Given the description of an element on the screen output the (x, y) to click on. 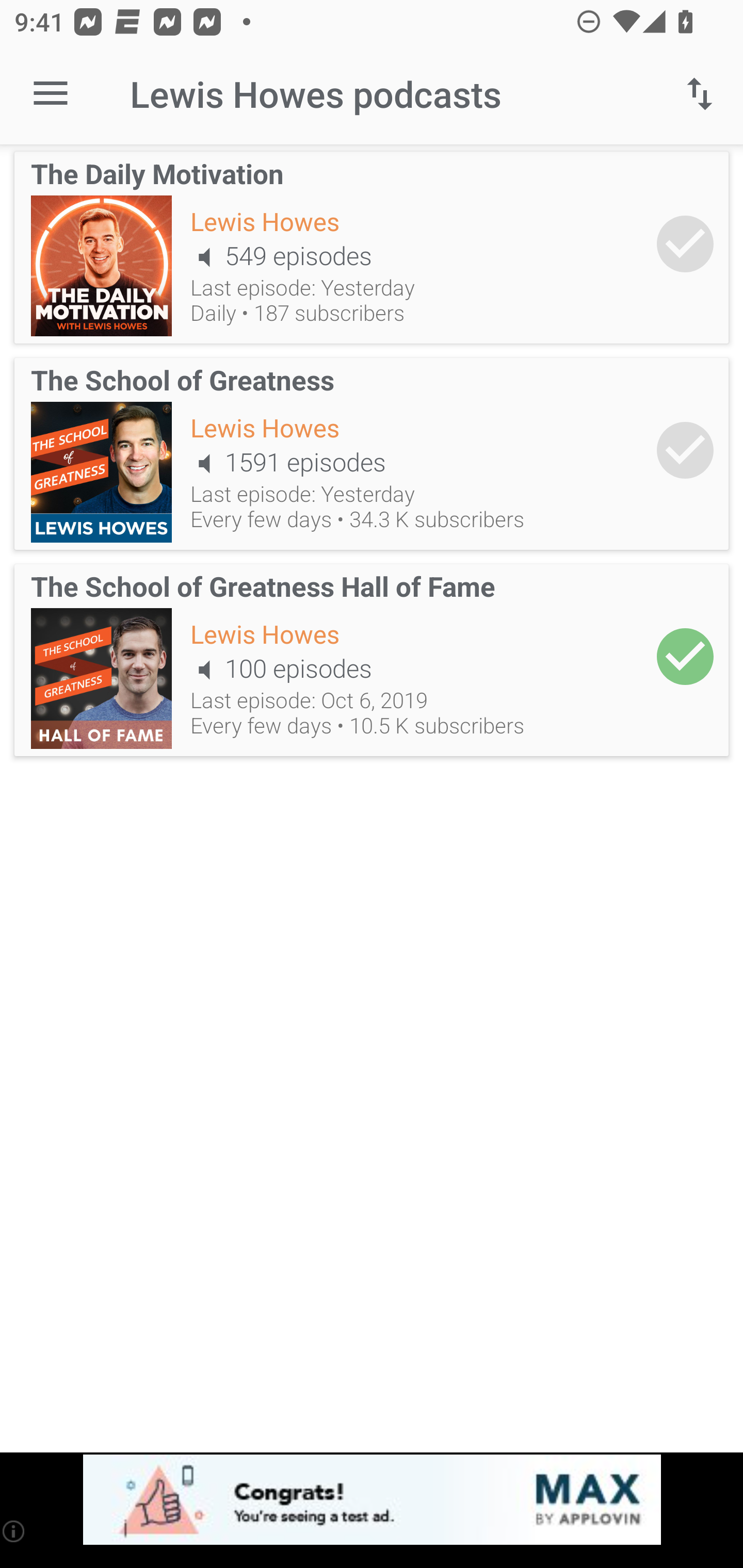
Open navigation sidebar (50, 93)
Sort (699, 93)
Add (684, 243)
Add (684, 450)
Add (684, 656)
app-monetization (371, 1500)
(i) (14, 1531)
